Given the description of an element on the screen output the (x, y) to click on. 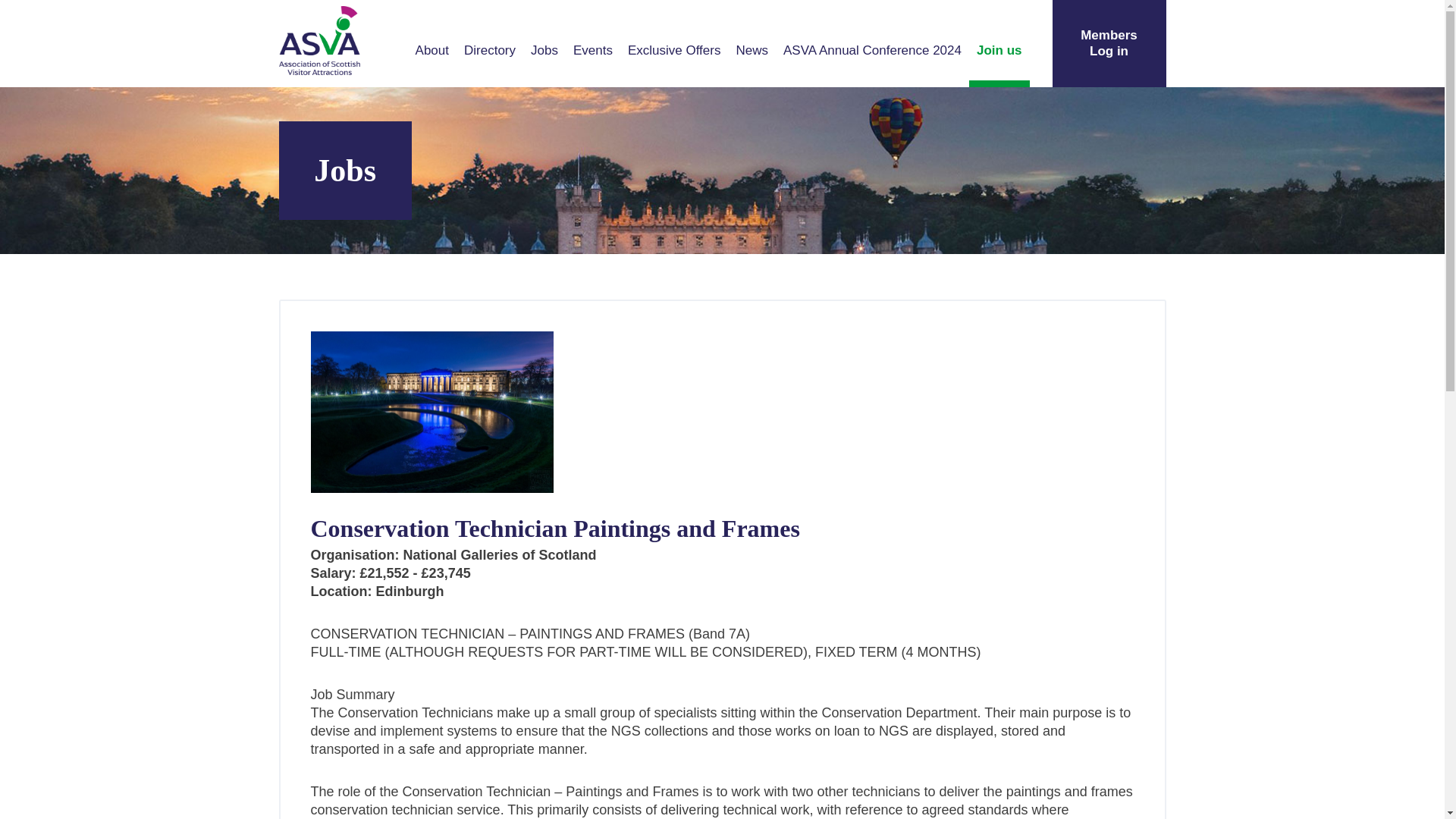
News (752, 51)
Events (593, 51)
Directory (489, 51)
Jobs (544, 51)
ASVA Annual Conference 2024 (872, 51)
Exclusive Offers (674, 51)
Join us (999, 51)
About (432, 51)
Members Log in (1109, 43)
